Given the description of an element on the screen output the (x, y) to click on. 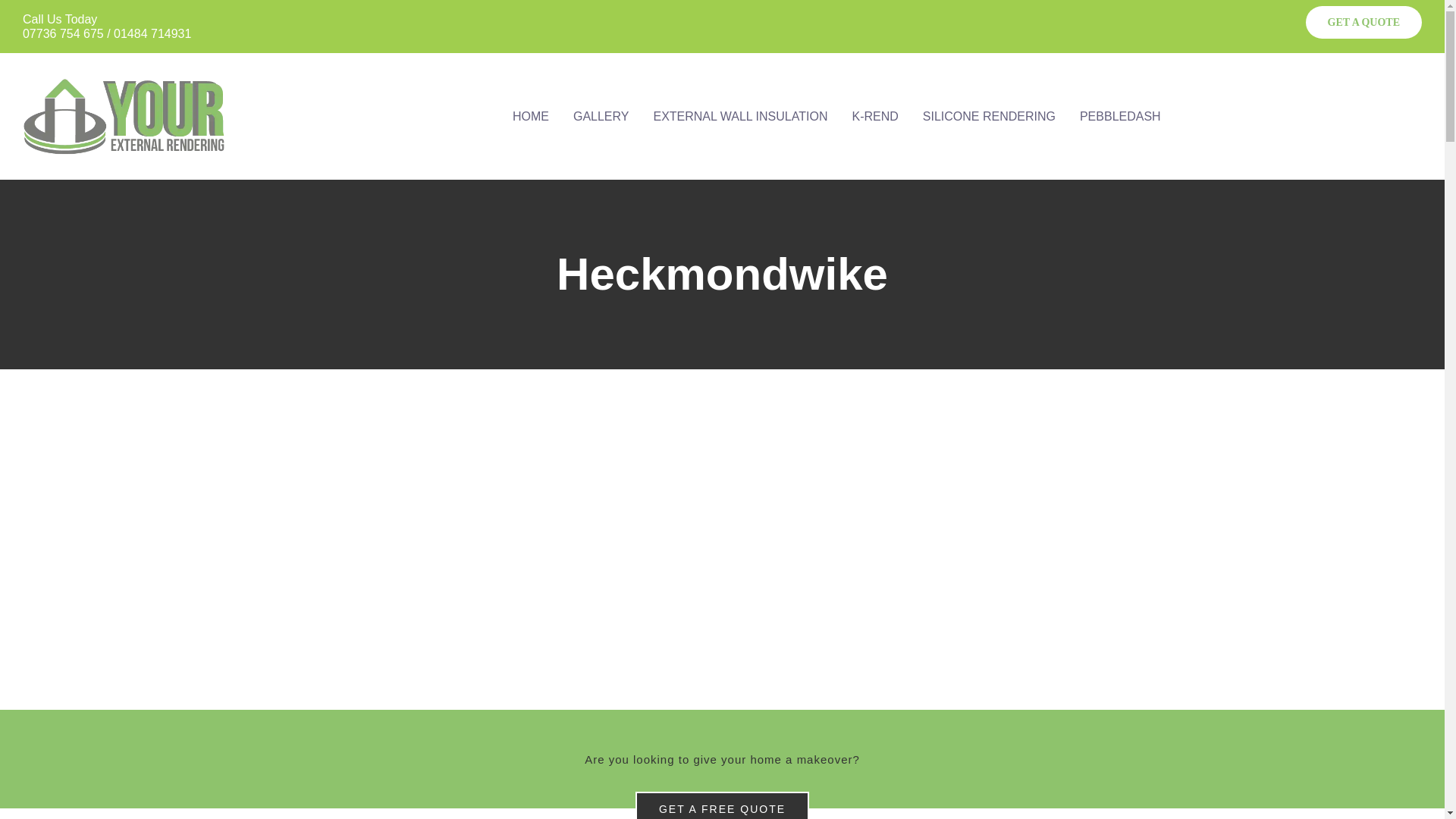
GET A FREE QUOTE (721, 805)
GET A QUOTE (1364, 21)
PEBBLEDASH (1120, 116)
SILICONE RENDERING (989, 116)
GALLERY (601, 116)
HOME (530, 116)
K-REND (875, 116)
EXTERNAL WALL INSULATION (740, 116)
